Given the description of an element on the screen output the (x, y) to click on. 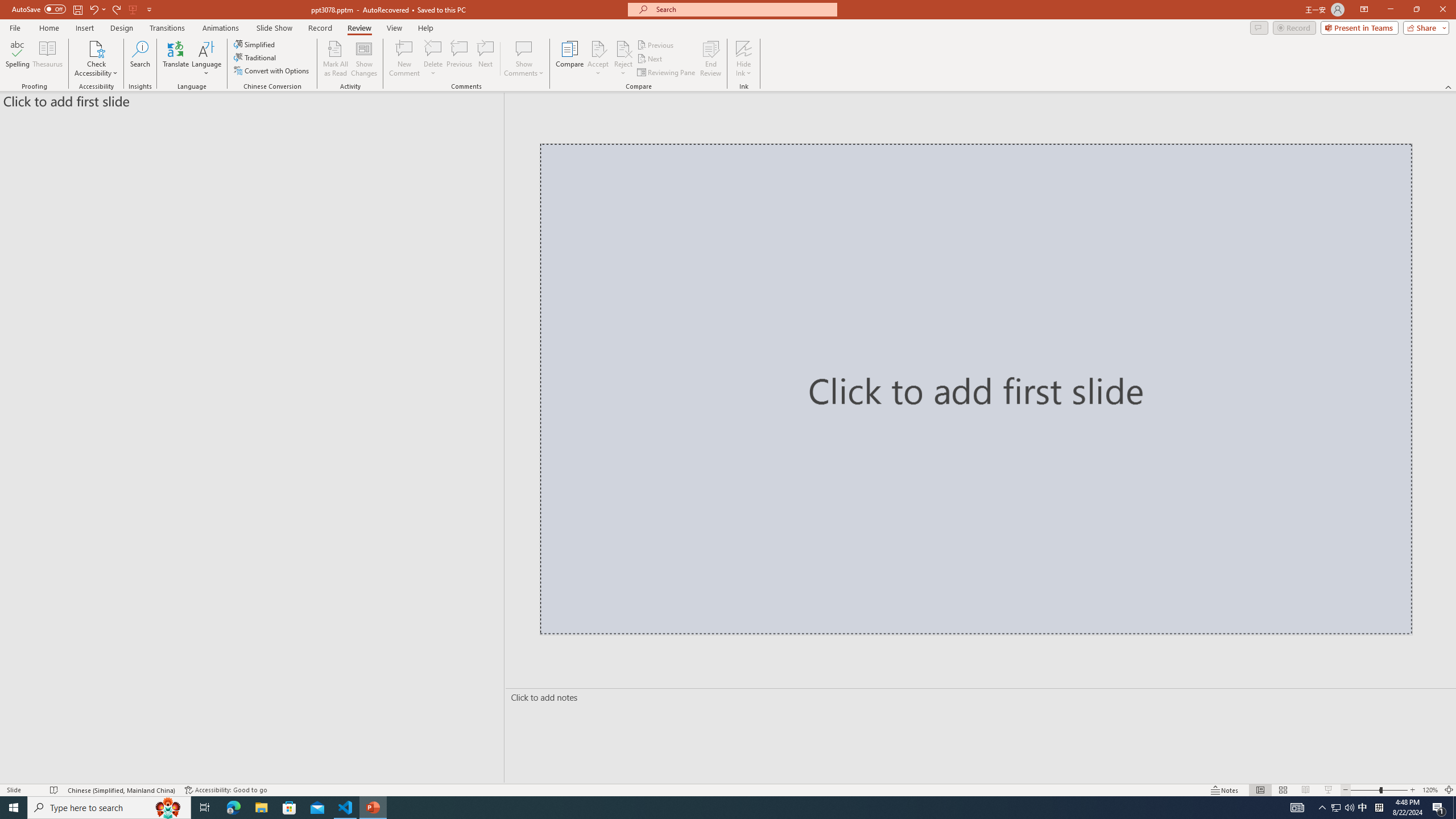
Hide Ink (743, 58)
Reject Change (622, 48)
Accept (598, 58)
Delete (432, 58)
Language (206, 58)
Convert with Options... (272, 69)
